Given the description of an element on the screen output the (x, y) to click on. 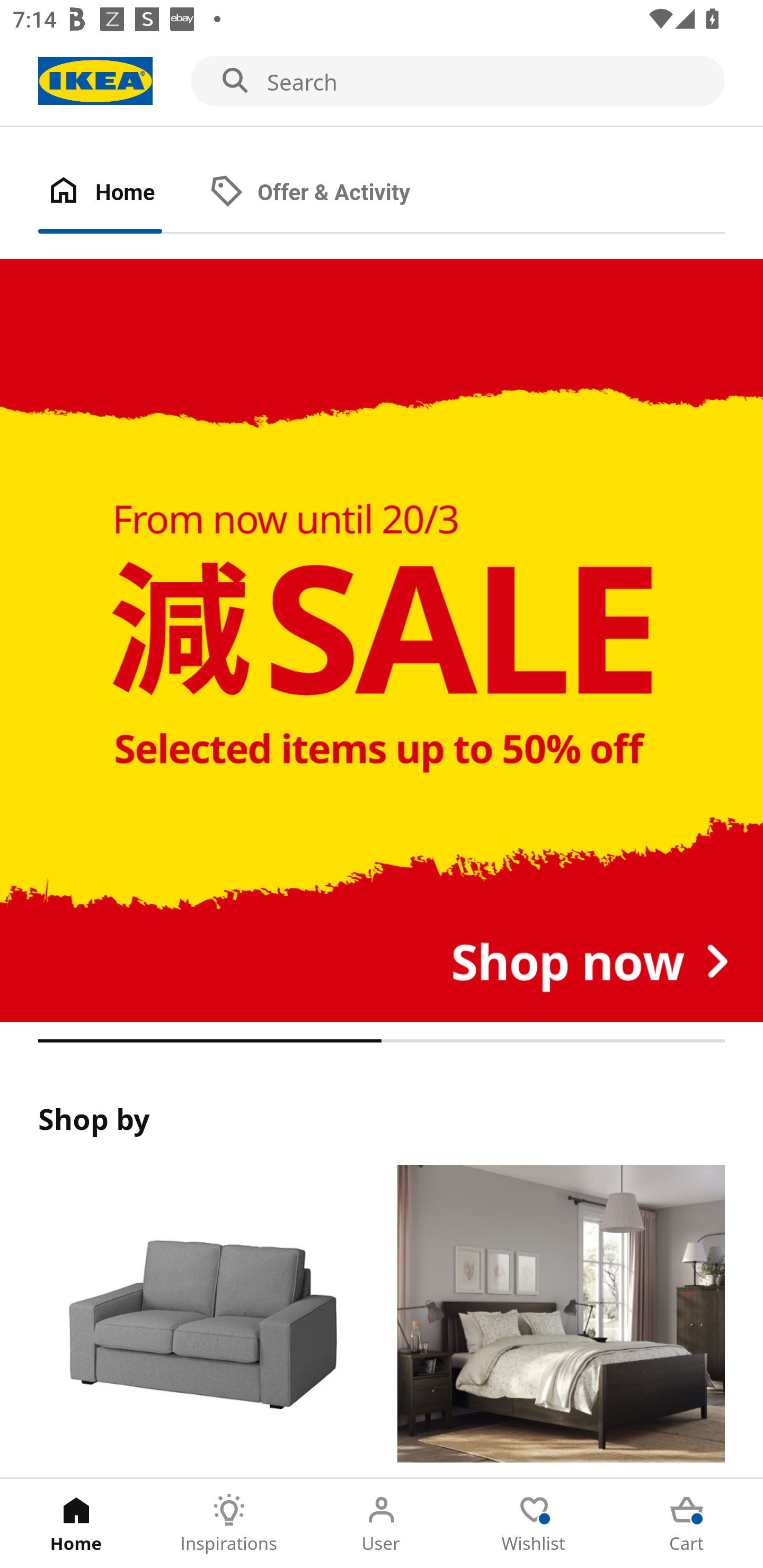
Search (381, 81)
Home
Tab 1 of 2 (118, 192)
Offer & Activity
Tab 2 of 2 (327, 192)
Products (201, 1321)
Rooms (560, 1321)
Home
Tab 1 of 5 (76, 1522)
Inspirations
Tab 2 of 5 (228, 1522)
User
Tab 3 of 5 (381, 1522)
Wishlist
Tab 4 of 5 (533, 1522)
Cart
Tab 5 of 5 (686, 1522)
